Given the description of an element on the screen output the (x, y) to click on. 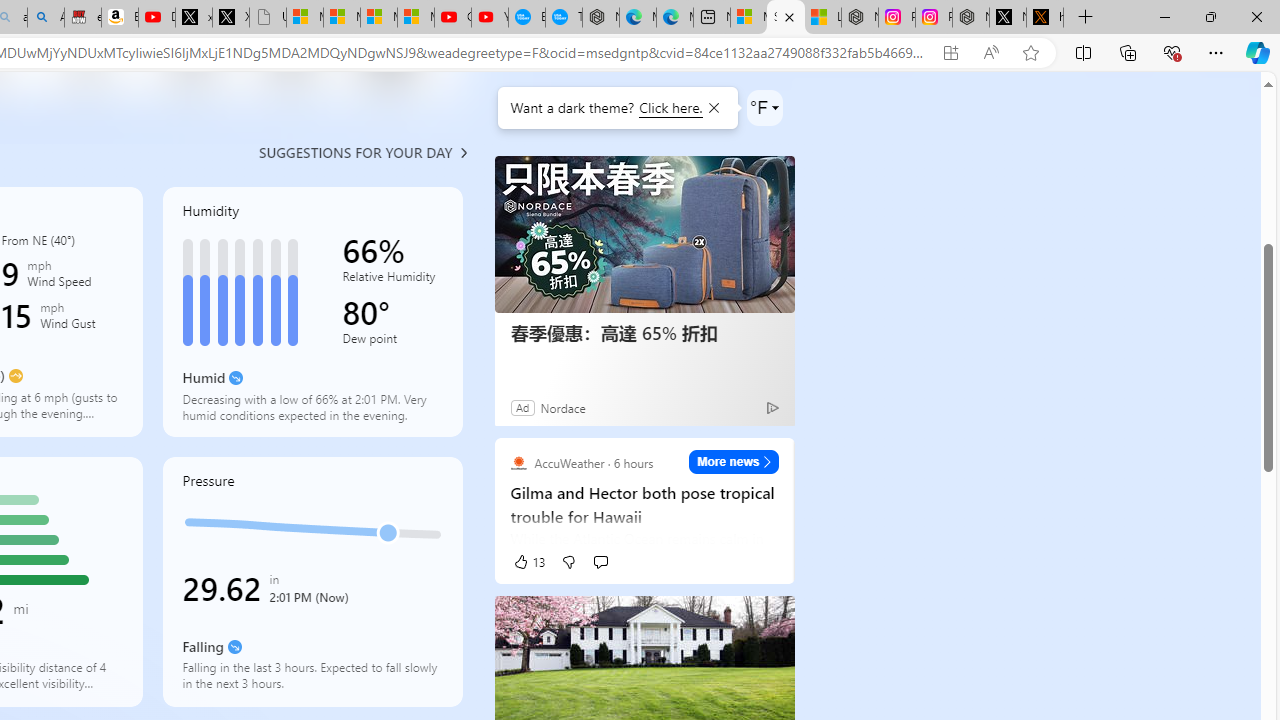
The most popular Google 'how to' searches (564, 17)
Class: BubbleMessageCloseIcon-DS-EntryPoint1-1 (712, 107)
Relative Humidity (391, 279)
